Given the description of an element on the screen output the (x, y) to click on. 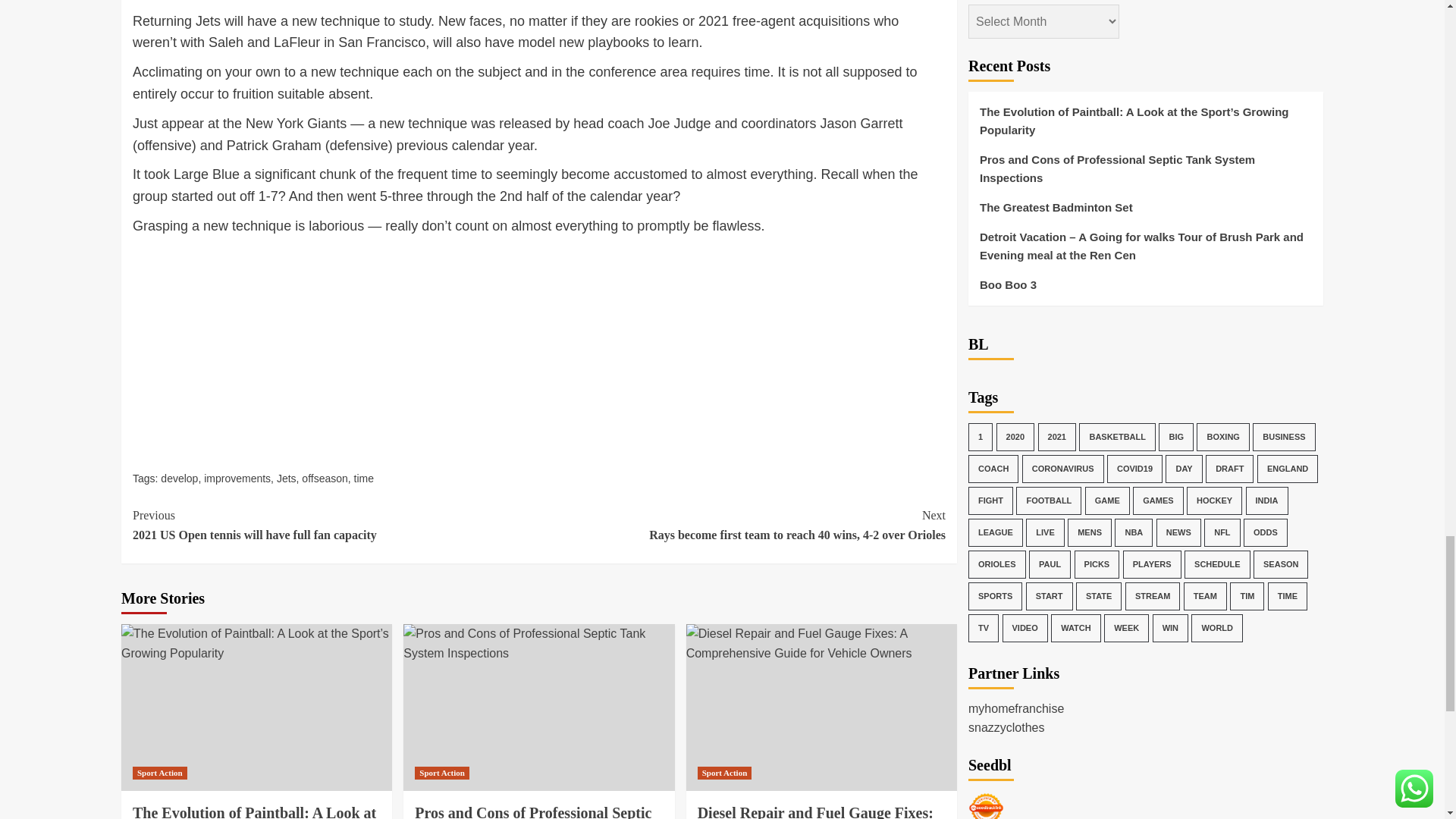
develop (179, 478)
Jets (286, 478)
Pros and Cons of Professional Septic Tank System Inspections (538, 643)
Sport Action (159, 772)
time (363, 478)
improvements (335, 525)
offseason (236, 478)
